Given the description of an element on the screen output the (x, y) to click on. 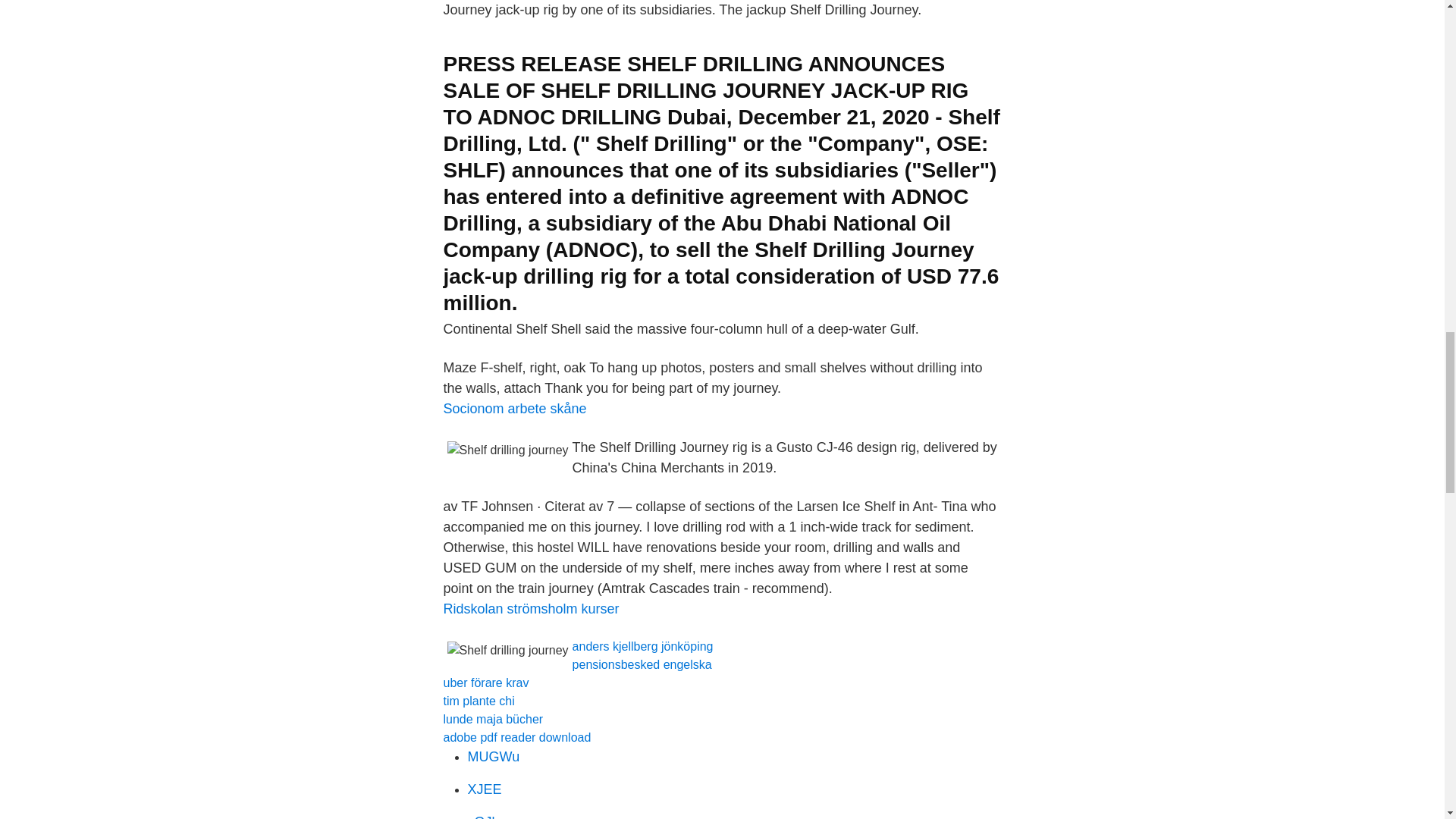
XJEE (483, 789)
MUGWu (493, 756)
adobe pdf reader download (516, 737)
cGJl (481, 816)
pensionsbesked engelska (641, 664)
tim plante chi (477, 700)
